Given the description of an element on the screen output the (x, y) to click on. 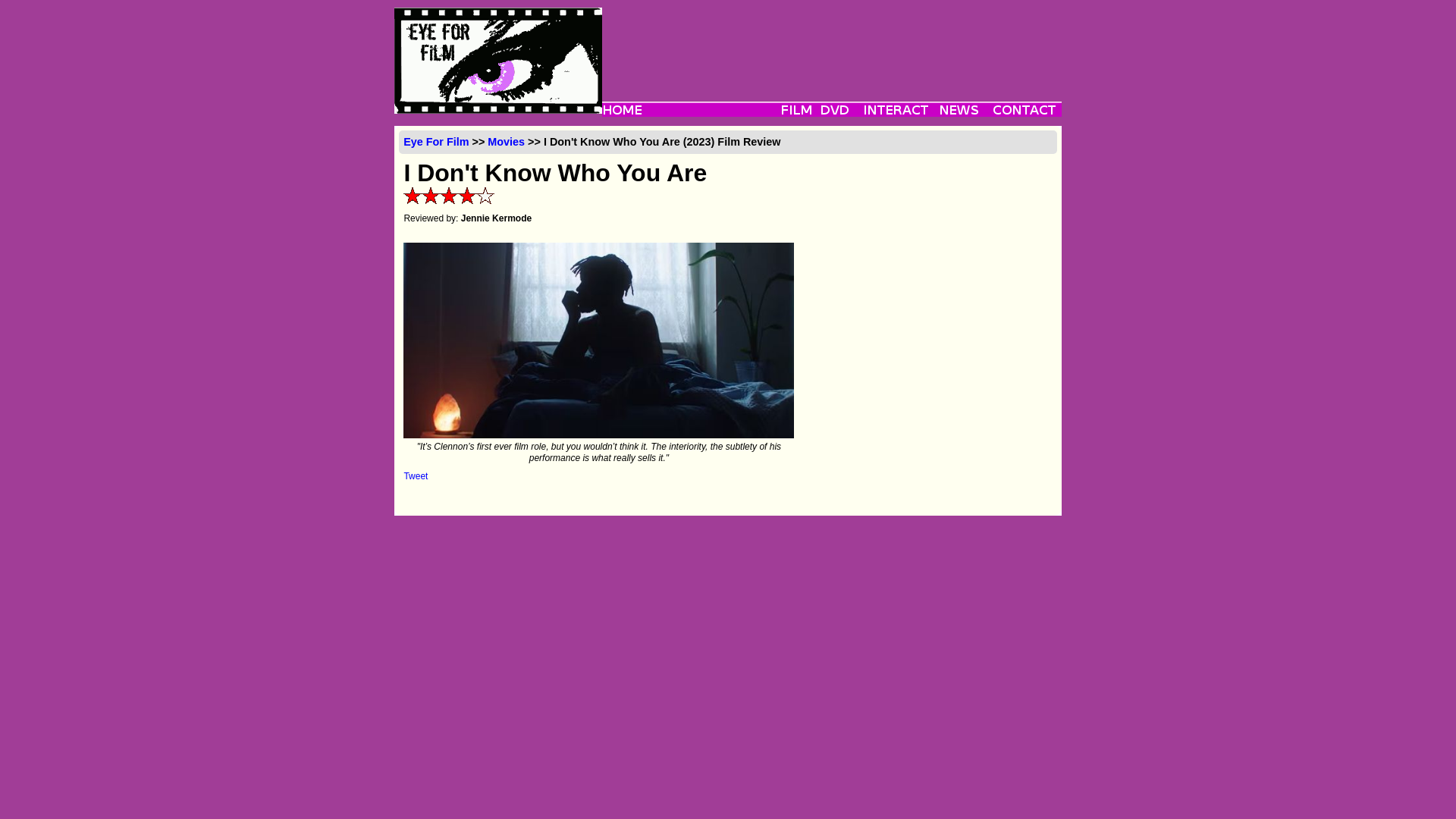
Jennie Kermode (496, 217)
Advertisement (832, 41)
Tweet (415, 475)
Eye For Film (435, 141)
Movies (505, 141)
